Given the description of an element on the screen output the (x, y) to click on. 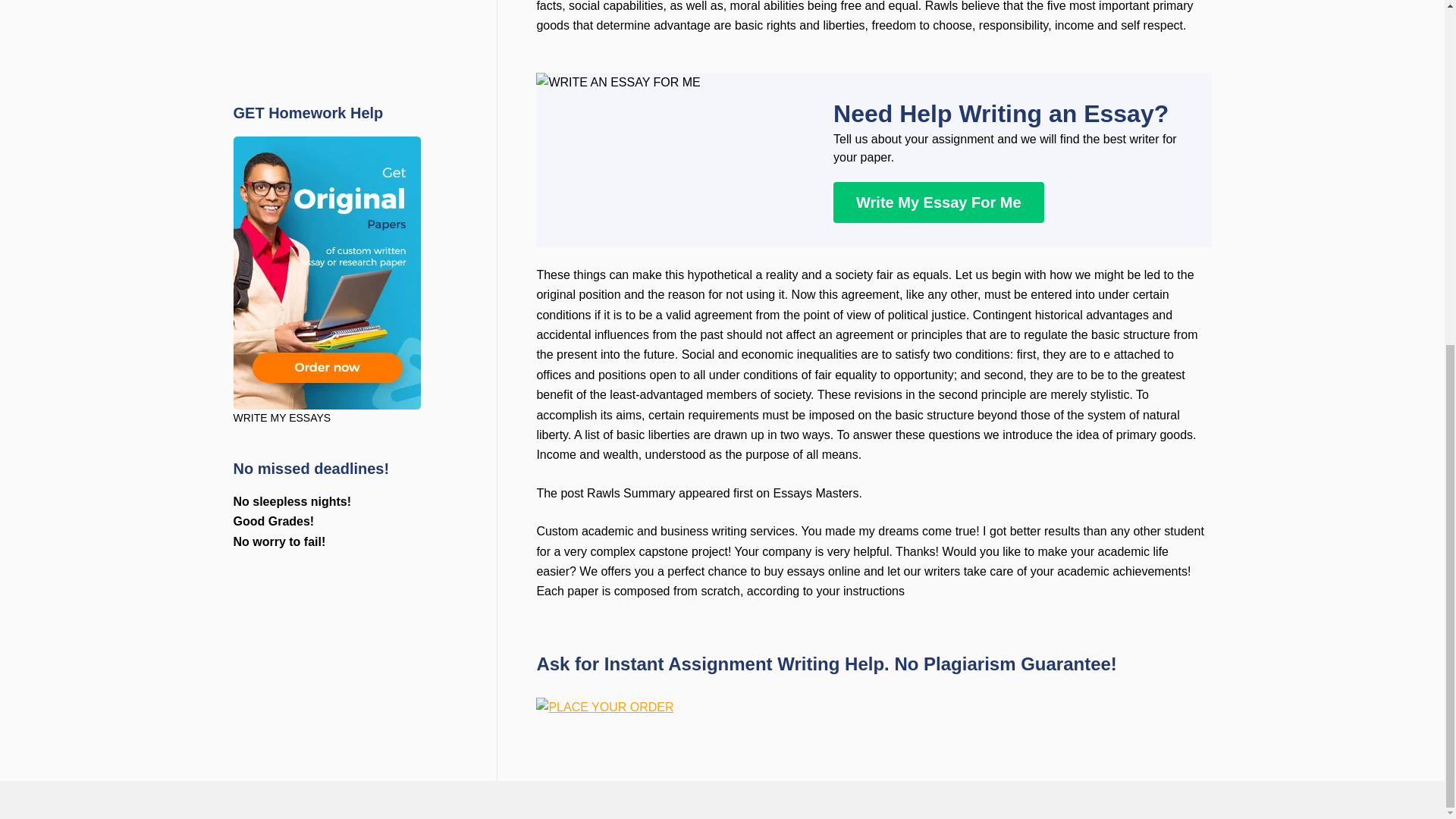
Write My Essay For Me (937, 201)
GET Homework Help (326, 22)
